Given the description of an element on the screen output the (x, y) to click on. 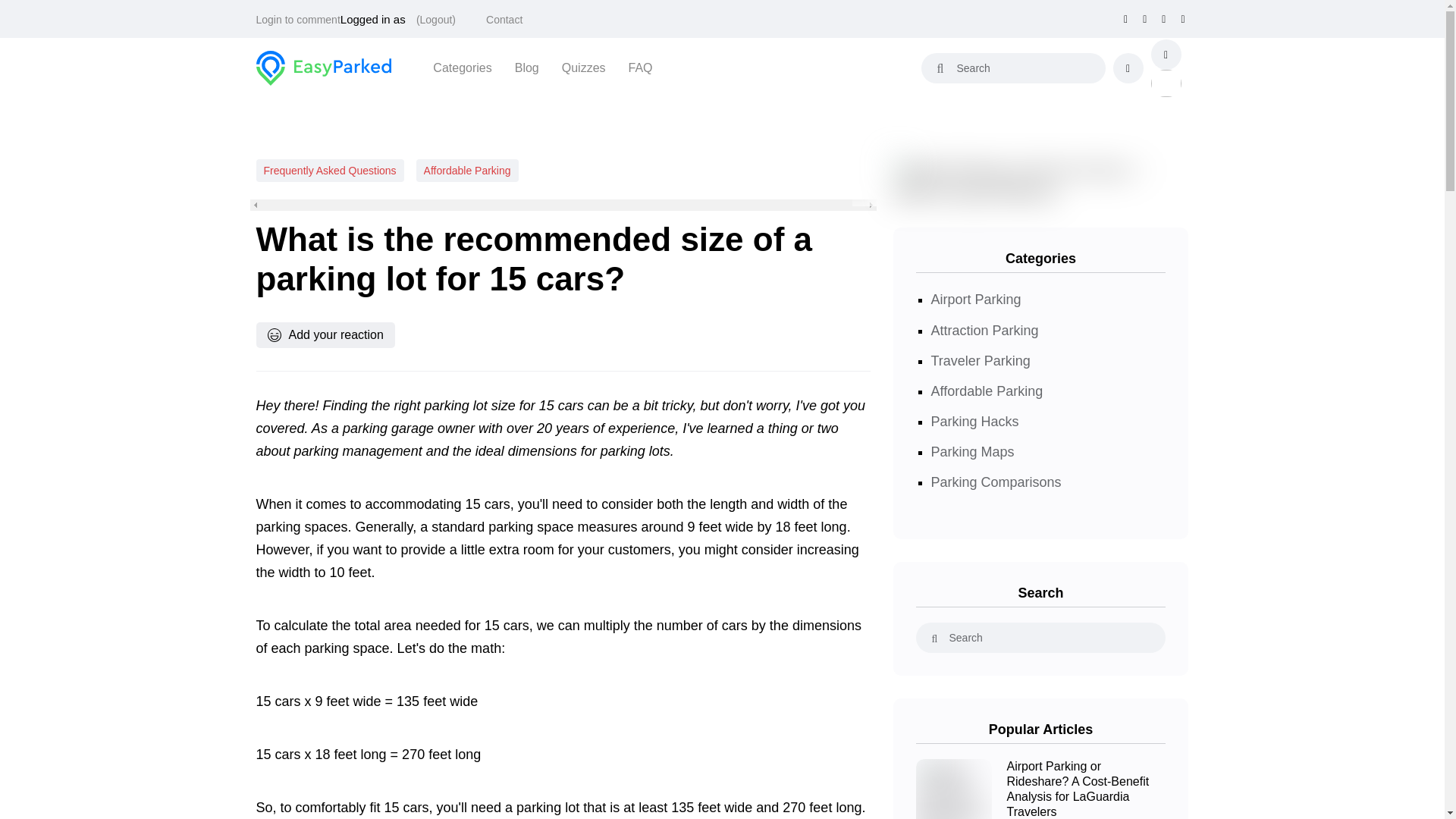
Login to comment (298, 19)
Categories (462, 67)
Contact (504, 19)
